Given the description of an element on the screen output the (x, y) to click on. 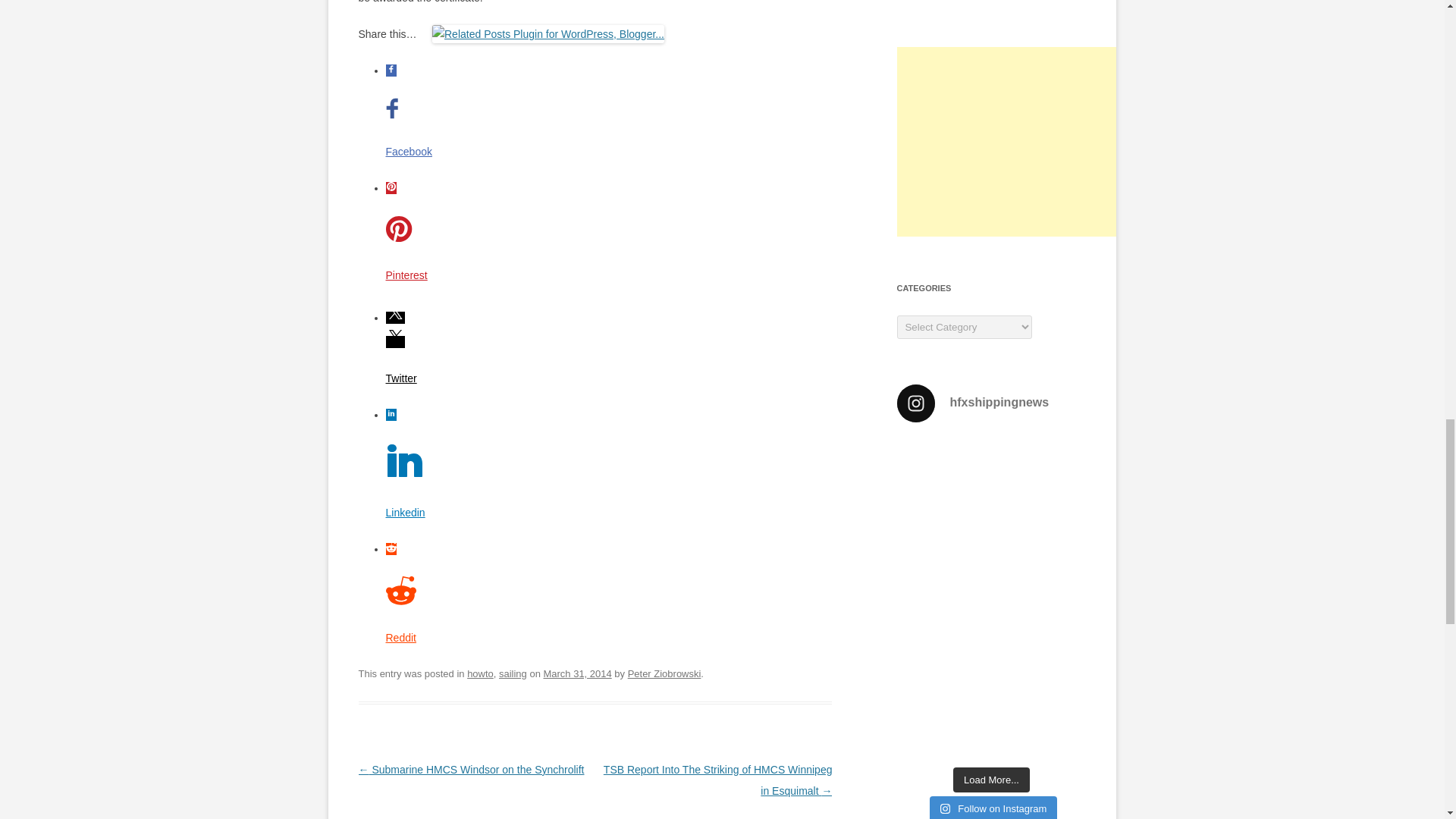
Linkedin (407, 512)
howto (480, 673)
Reddit (407, 637)
sailing (513, 673)
4:02 pm (577, 673)
March 31, 2014 (577, 673)
Facebook (407, 151)
Pinterest (407, 275)
Twitter (407, 378)
View all posts by Peter Ziobrowski (664, 673)
